Given the description of an element on the screen output the (x, y) to click on. 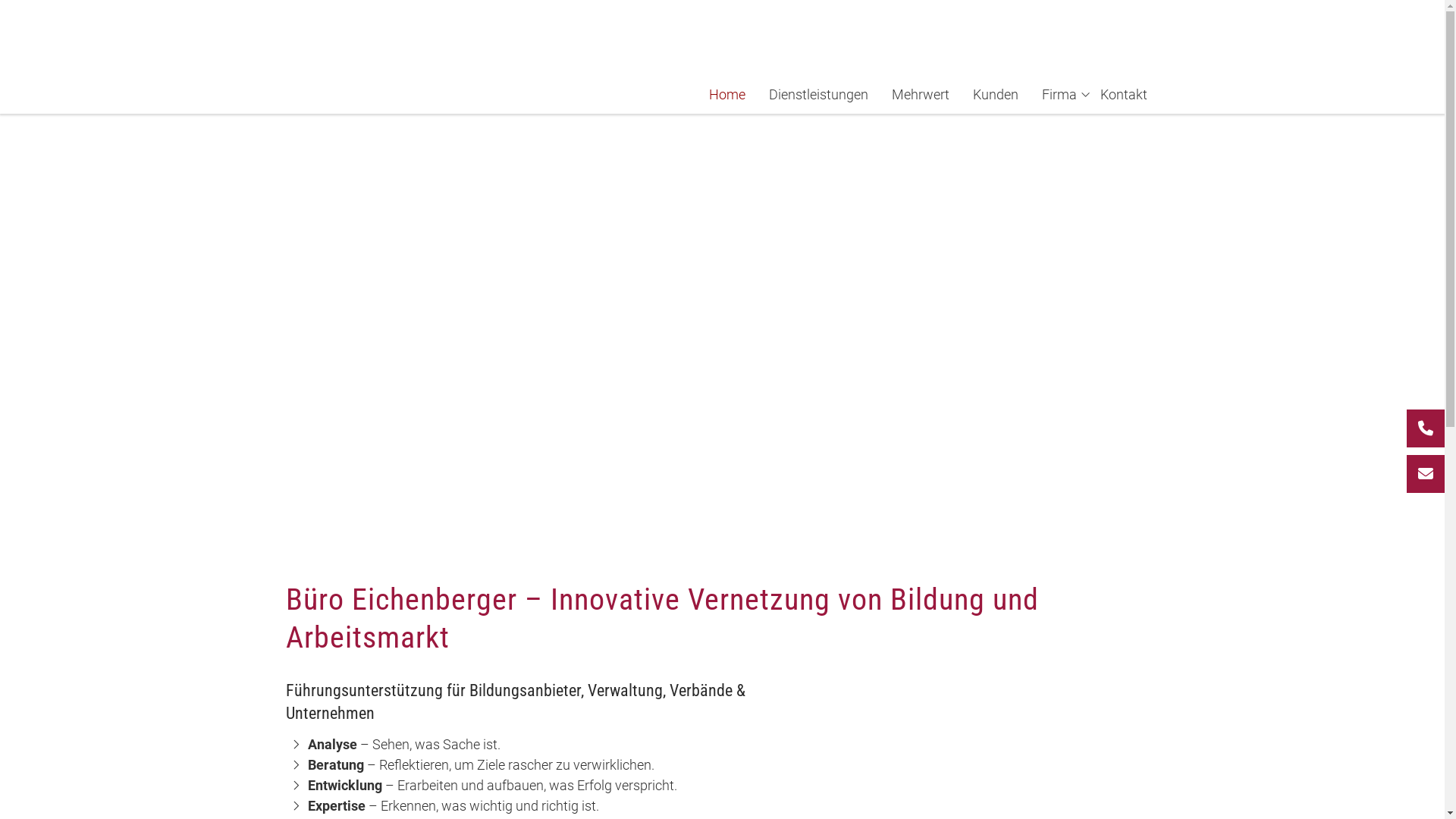
Home Element type: text (726, 94)
Kontakt Element type: text (1122, 94)
Kunden Element type: text (994, 94)
Dienstleistungen Element type: text (818, 94)
Mehrwert Element type: text (920, 94)
Firma Element type: text (1058, 94)
